Given the description of an element on the screen output the (x, y) to click on. 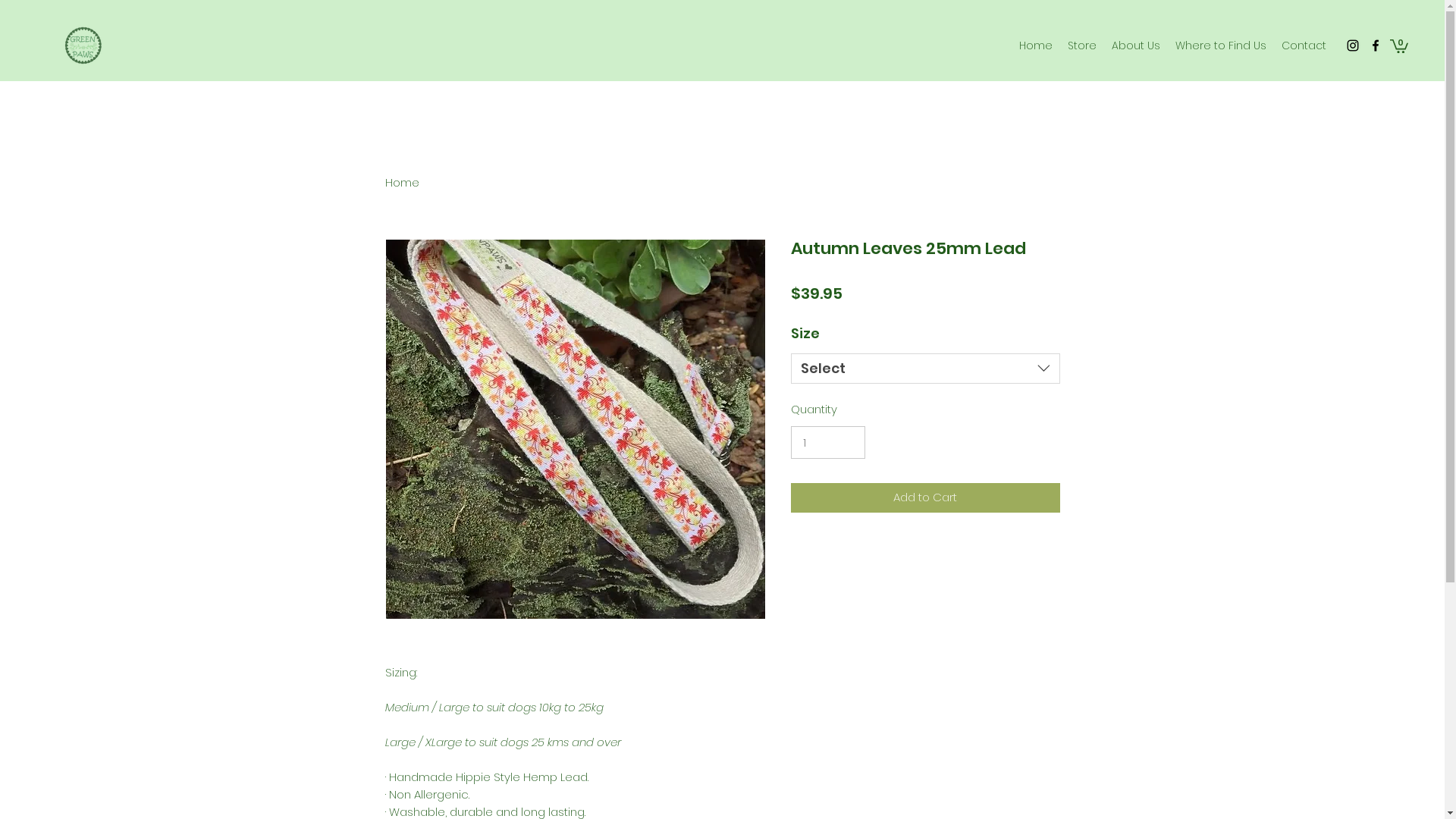
Where to Find Us Element type: text (1220, 45)
Contact Element type: text (1303, 45)
Store Element type: text (1082, 45)
Home Element type: text (402, 182)
Add to Cart Element type: text (924, 497)
0 Element type: text (1399, 45)
Home Element type: text (1035, 45)
Select Element type: text (924, 368)
About Us Element type: text (1135, 45)
